Given the description of an element on the screen output the (x, y) to click on. 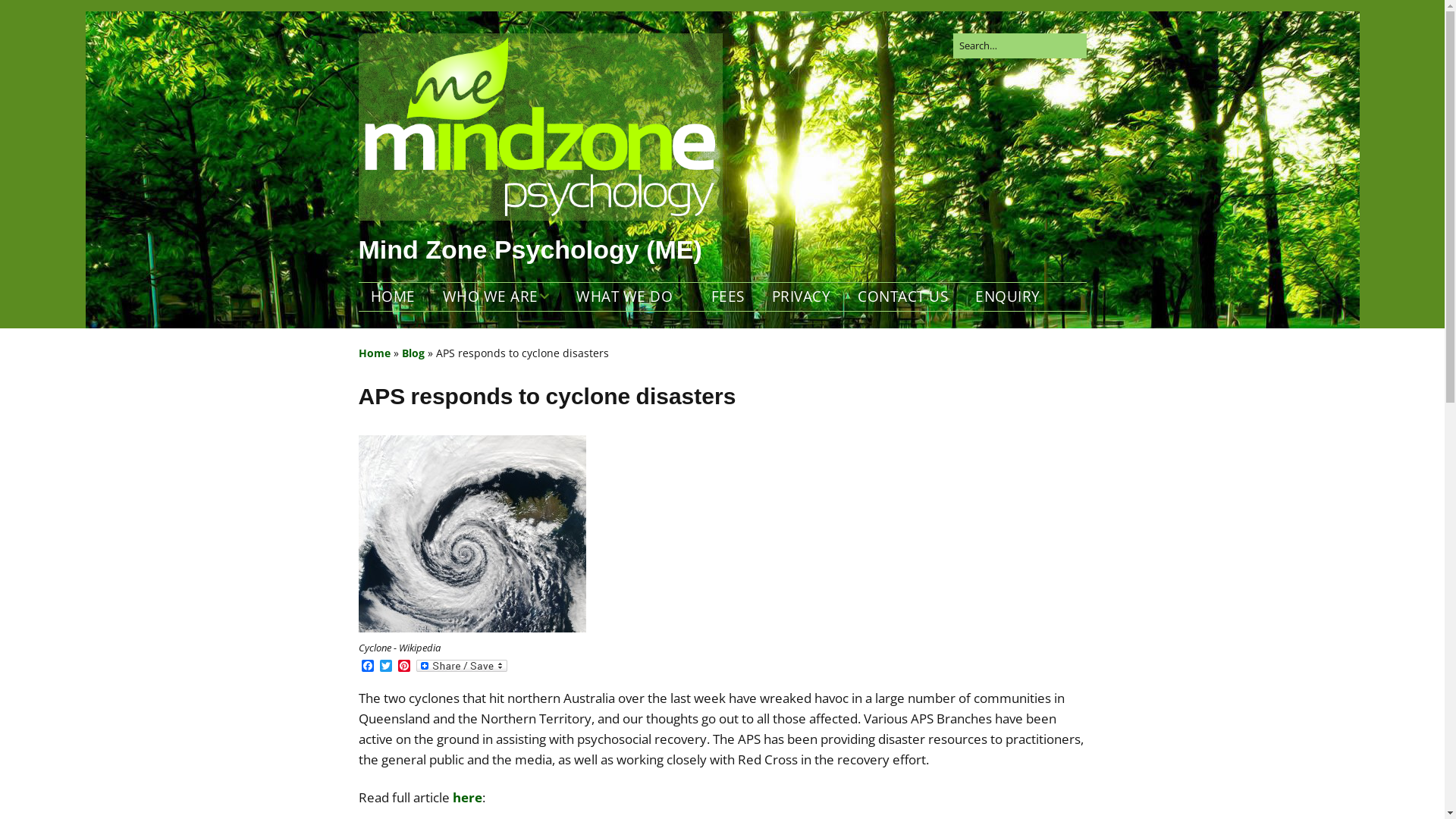
Pinterest Element type: text (403, 666)
Blog Element type: text (412, 352)
Press Enter to submit your search Element type: hover (1018, 45)
CONTACT US Element type: text (902, 296)
Home Element type: text (373, 352)
here Element type: text (466, 797)
HOME Element type: text (391, 296)
ENQUIRY Element type: text (1007, 296)
PRIVACY Element type: text (801, 296)
FEES Element type: text (727, 296)
WHAT WE DO Element type: text (630, 296)
Search Element type: text (28, 15)
WHO WE ARE Element type: text (495, 296)
Twitter Element type: text (385, 666)
Facebook Element type: text (366, 666)
Mind Zone Psychology (ME) Element type: text (529, 249)
